Given the description of an element on the screen output the (x, y) to click on. 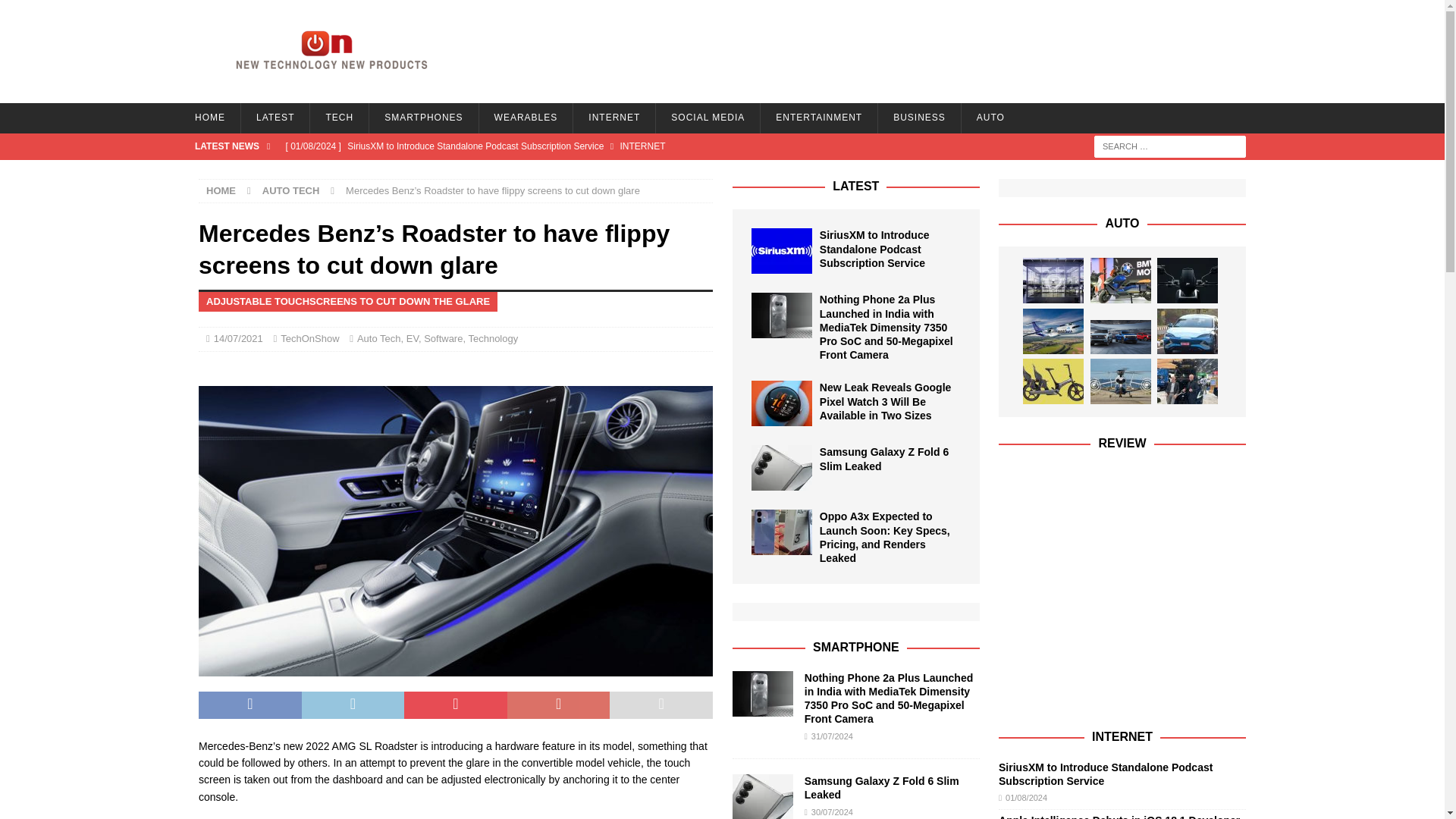
SOCIAL MEDIA (707, 117)
Technology (492, 337)
AUTO (990, 117)
TECH (338, 117)
ENTERTAINMENT (818, 117)
Software (443, 337)
AUTO TECH (291, 190)
LATEST (274, 117)
HOME (209, 117)
Search (56, 11)
HOME (220, 190)
WEARABLES (526, 117)
Auto Tech (378, 337)
SMARTPHONES (422, 117)
